Given the description of an element on the screen output the (x, y) to click on. 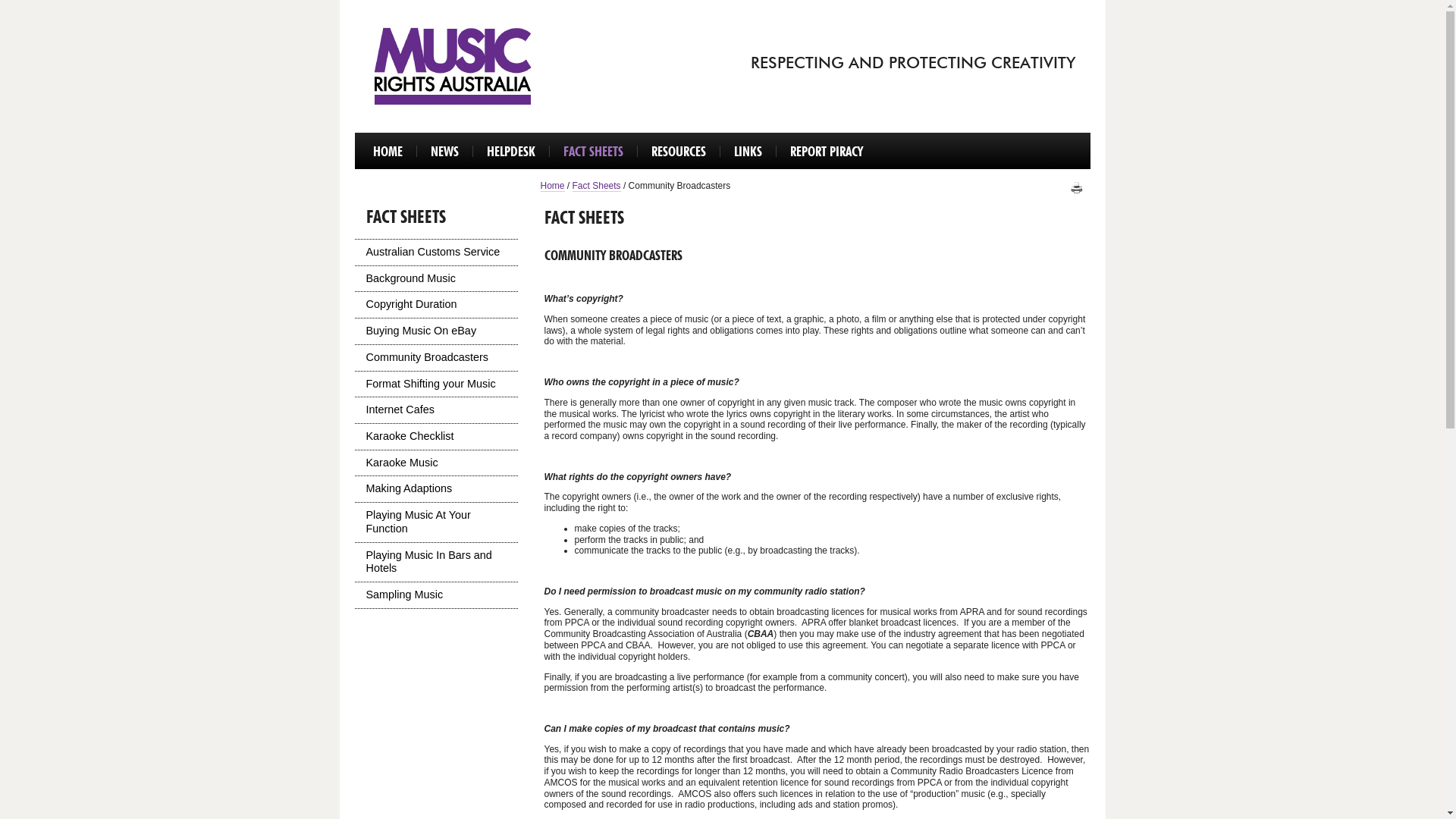
Community Broadcasters Element type: text (435, 357)
Format Shifting your Music Element type: text (435, 384)
Internet Cafes Element type: text (435, 410)
HELPDESK Element type: text (511, 151)
REPORT PIRACY Element type: text (826, 151)
Playing Music In Bars and Hotels Element type: text (435, 561)
FACT SHEETS Element type: text (592, 151)
Playing Music At Your Function Element type: text (435, 521)
Australian Customs Service Element type: text (435, 252)
Skip navigation Element type: text (357, 131)
Buying Music On eBay Element type: text (435, 331)
Copyright Duration Element type: text (435, 304)
Making Adaptions Element type: text (435, 489)
Karaoke Checklist Element type: text (435, 436)
Karaoke Music Element type: text (435, 463)
Print Page Element type: text (1076, 188)
HOME Element type: text (387, 151)
LINKS Element type: text (747, 151)
NEWS Element type: text (444, 151)
Fact Sheets Element type: text (596, 185)
Background Music Element type: text (435, 278)
RESOURCES Element type: text (677, 151)
Home Element type: text (551, 185)
Sampling Music Element type: text (435, 595)
